Given the description of an element on the screen output the (x, y) to click on. 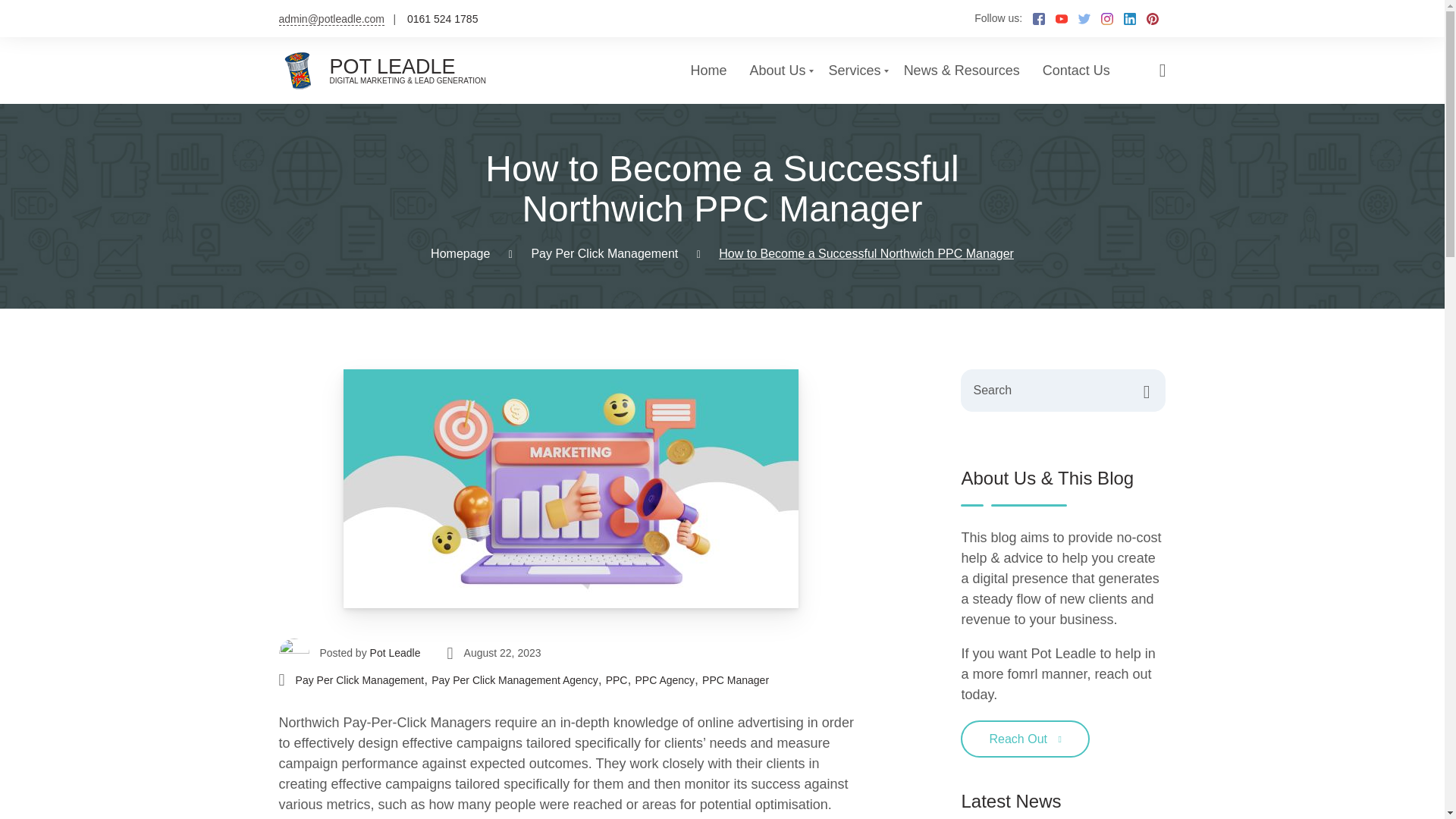
Homepage (459, 253)
Pay Per Click Management (604, 253)
PPC Manager (734, 680)
Pay Per Click Management Agency (513, 680)
PPC (616, 680)
Pot Leadle (394, 652)
About Us (777, 69)
Home (708, 69)
PPC Agency (664, 680)
Pay Per Click Management (360, 680)
